Given the description of an element on the screen output the (x, y) to click on. 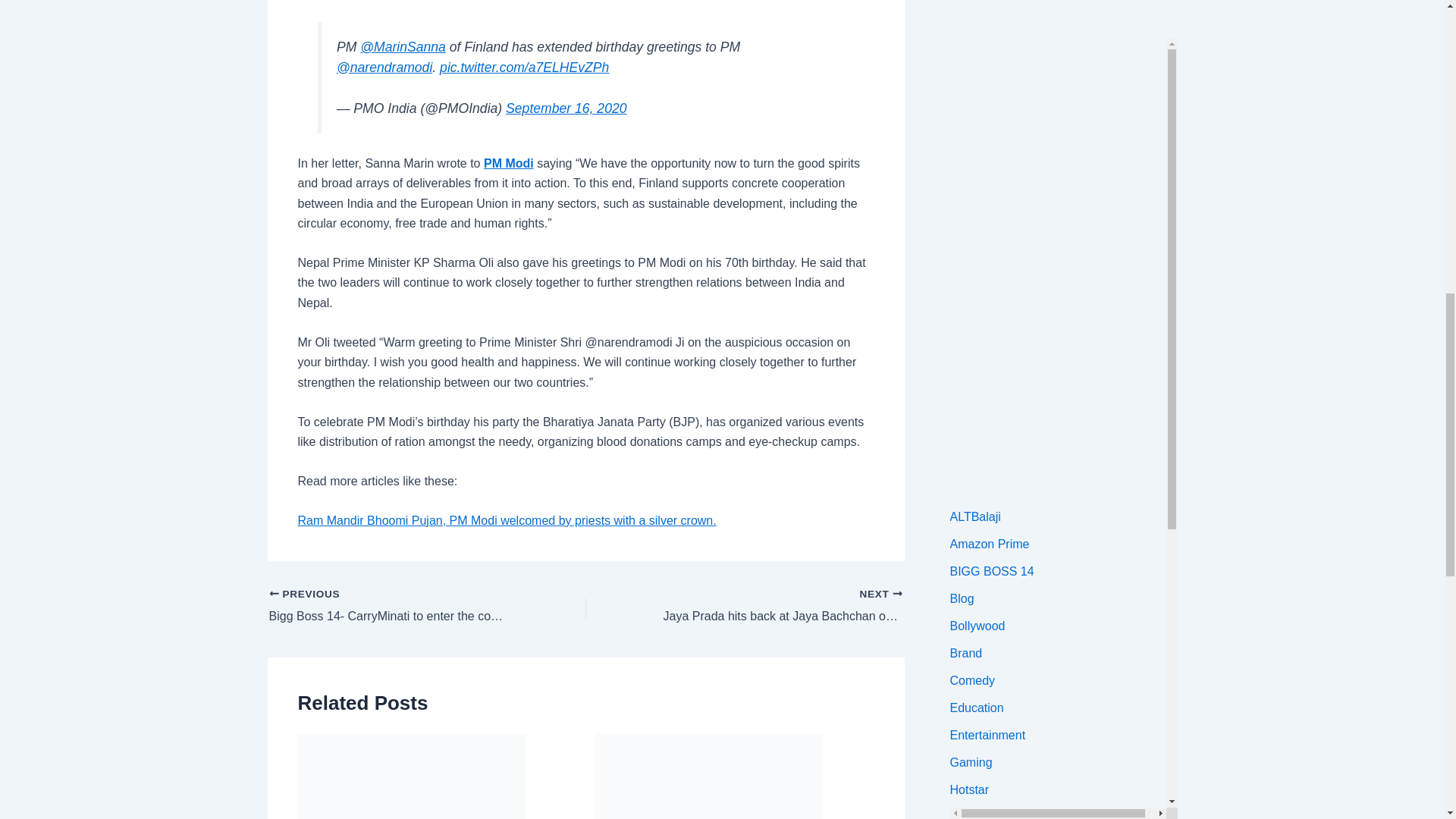
PM Modi (508, 163)
September 16, 2020 (565, 108)
